Given the description of an element on the screen output the (x, y) to click on. 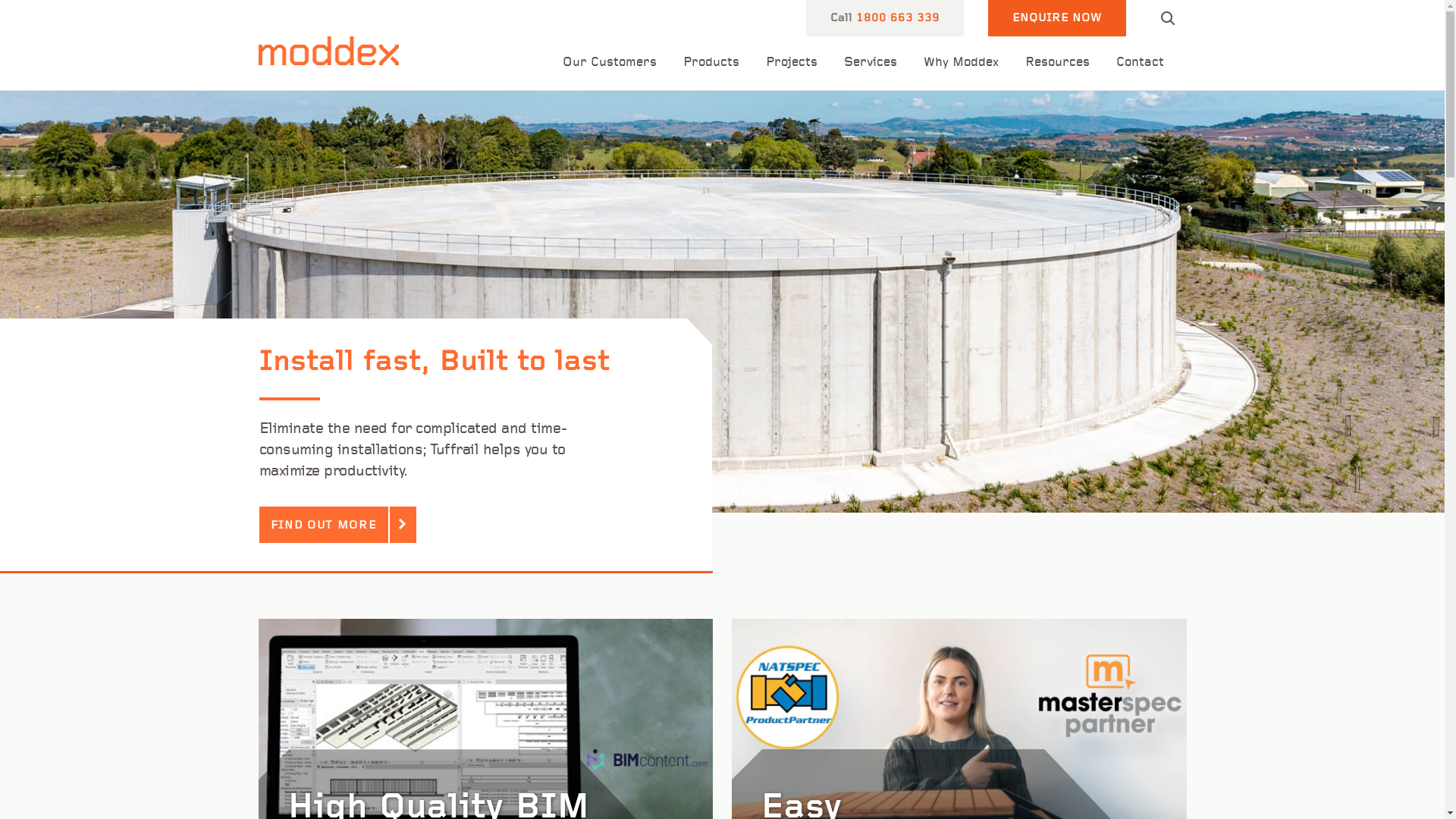
Services Element type: text (869, 62)
ENQUIRE NOW Element type: text (1056, 18)
Projects Element type: text (791, 62)
FIND OUT MORE Element type: text (323, 524)
Call 1800 663 339 Element type: text (884, 18)
Contact Element type: text (1140, 62)
Products Element type: text (710, 62)
Resources Element type: text (1057, 62)
Our Customers Element type: text (609, 62)
Why Moddex Element type: text (960, 62)
